Given the description of an element on the screen output the (x, y) to click on. 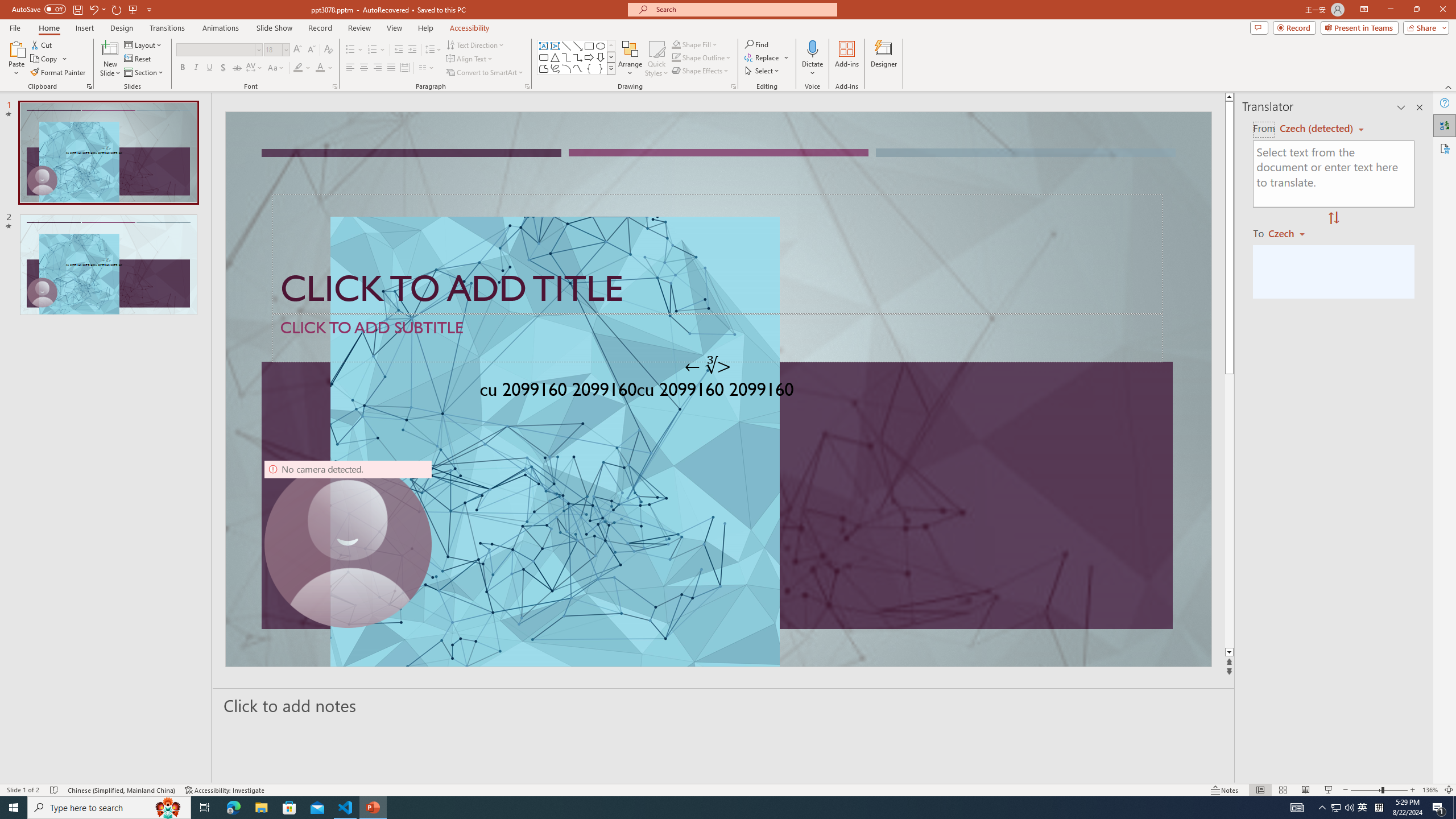
Czech (1291, 232)
Class: NetUIImage (610, 68)
Arc (566, 68)
Right Brace (600, 68)
Designer (883, 58)
Class: MsoCommandBar (728, 789)
